Given the description of an element on the screen output the (x, y) to click on. 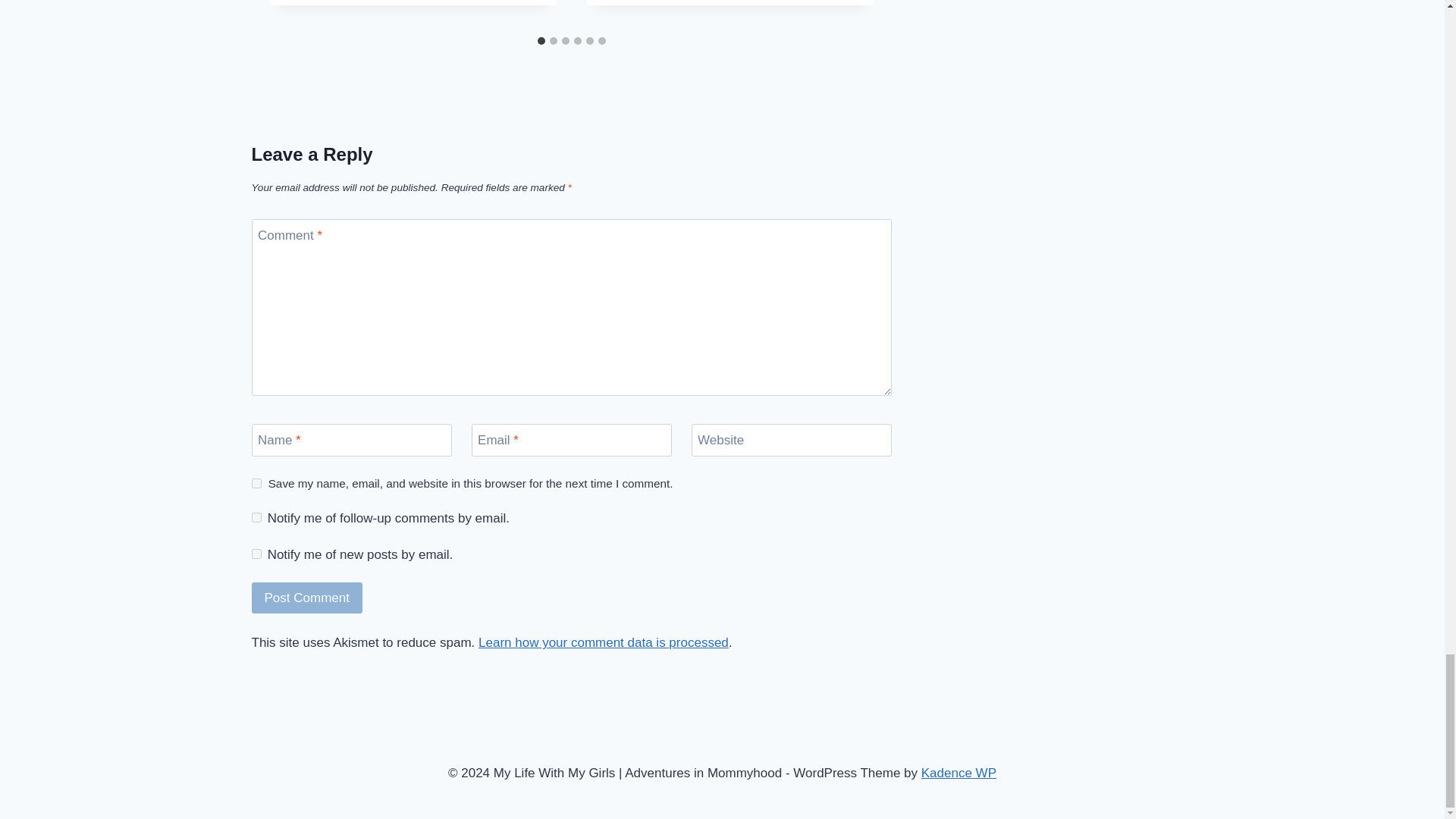
Post Comment (306, 597)
yes (256, 483)
subscribe (256, 553)
subscribe (256, 517)
